Given the description of an element on the screen output the (x, y) to click on. 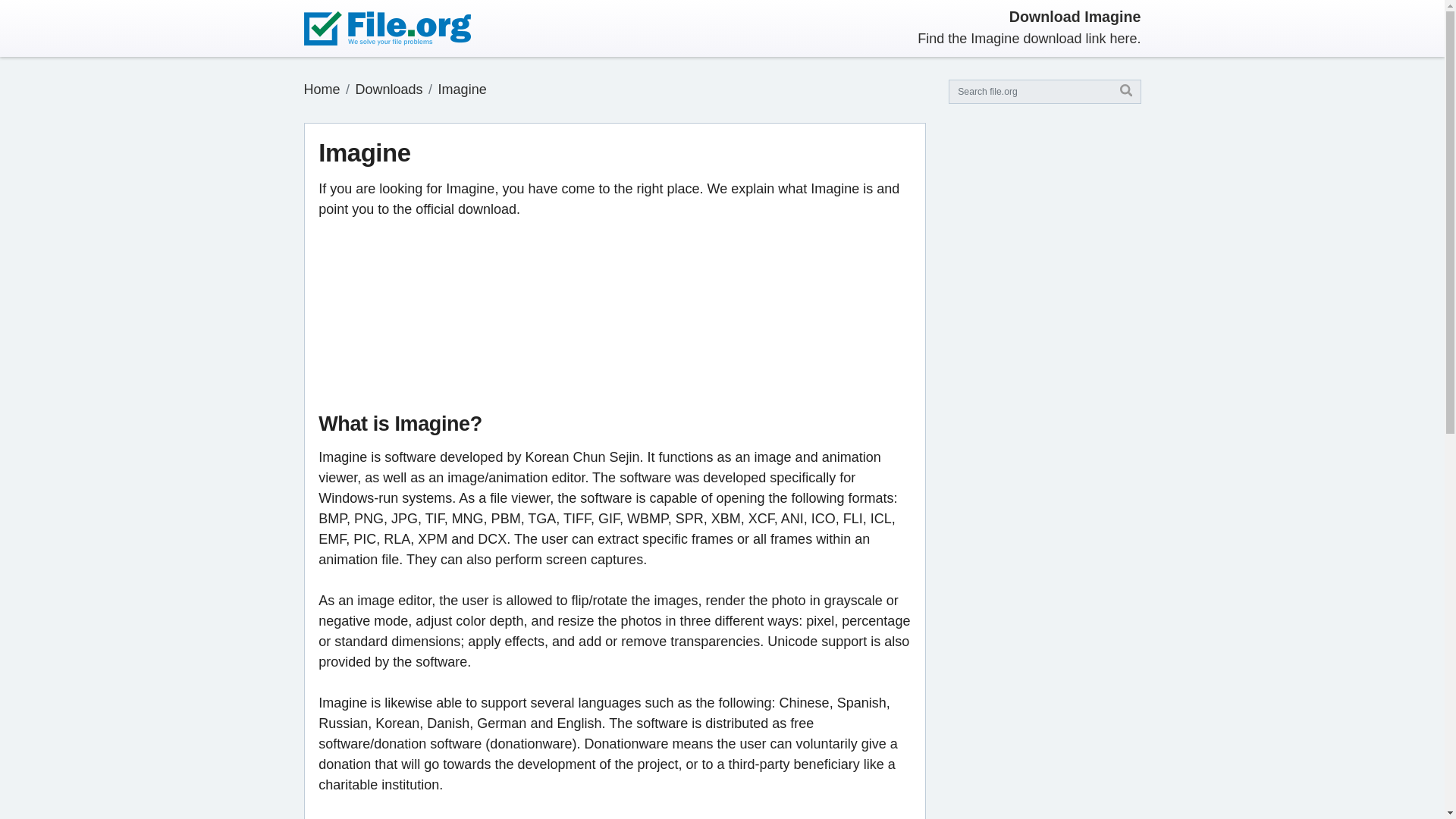
Imagine (462, 89)
Imagine (462, 89)
Home (320, 89)
File.org (320, 89)
Downloads (389, 89)
Downloads (389, 89)
